Given the description of an element on the screen output the (x, y) to click on. 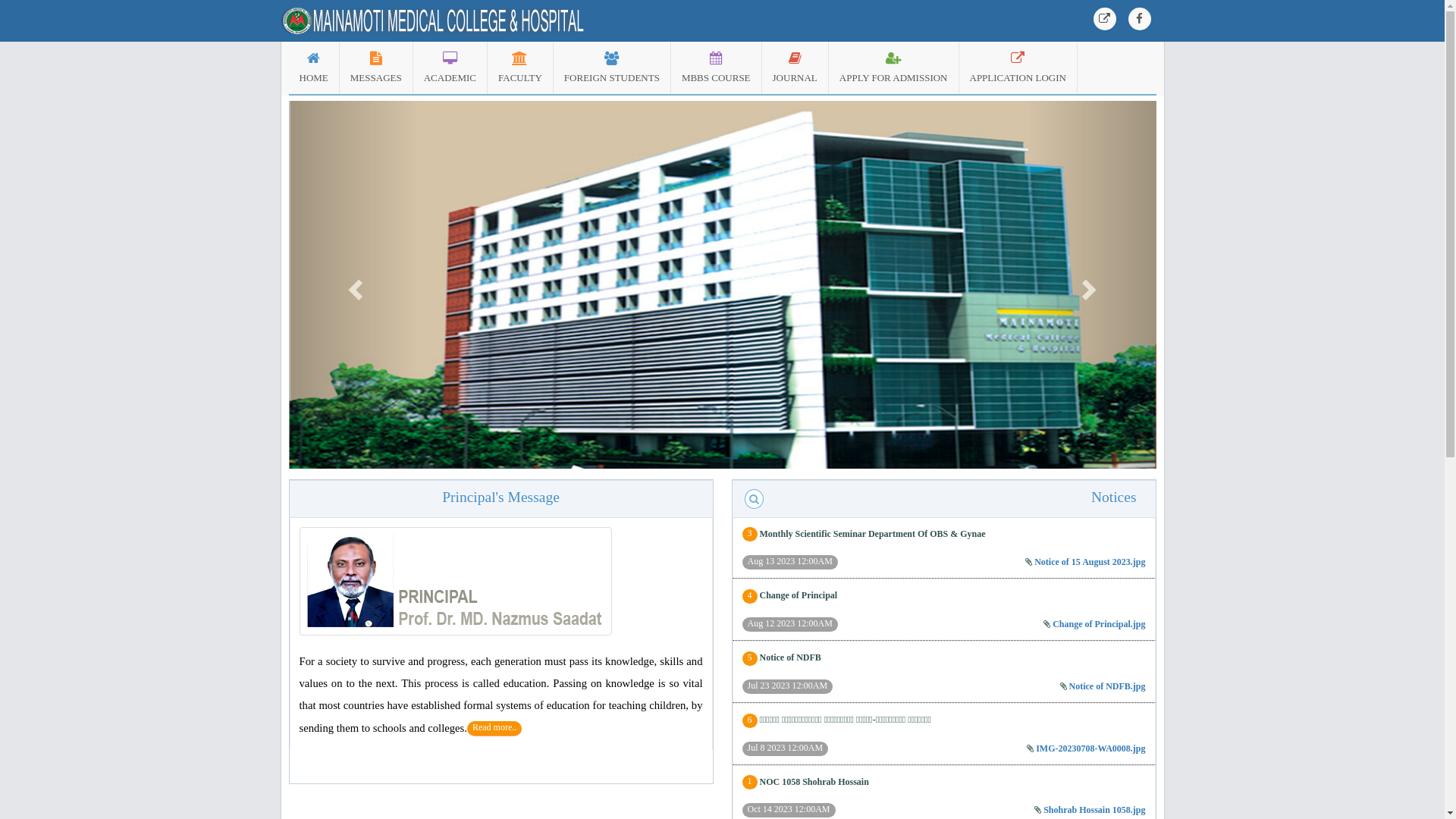
MESSAGES Element type: text (375, 67)
Read more.. Element type: text (494, 728)
Notice of NDFB.jpg Element type: text (1107, 685)
APPLY FOR ADMISSION Element type: text (893, 67)
Previous Element type: text (353, 284)
ACADEMIC Element type: text (449, 67)
FOREIGN STUDENTS Element type: text (611, 67)
Shohrab Hossain 1058.jpg Element type: text (1094, 809)
Next Element type: text (1091, 284)
IMG-20230708-WA0008.jpg Element type: text (1090, 748)
JOURNAL Element type: text (795, 67)
Notice of 15 August 2023.jpg Element type: text (1089, 561)
Change of Principal.jpg Element type: text (1098, 623)
Facebook Element type: hover (1139, 18)
APPLICATION LOGIN Element type: text (1017, 67)
MBBS COURSE Element type: text (716, 67)
FACULTY Element type: text (519, 67)
Web Application Login Element type: hover (1104, 18)
CHAIRMAN, Meherunnessa Bahar Element type: hover (454, 581)
HOME Element type: text (313, 67)
